Given the description of an element on the screen output the (x, y) to click on. 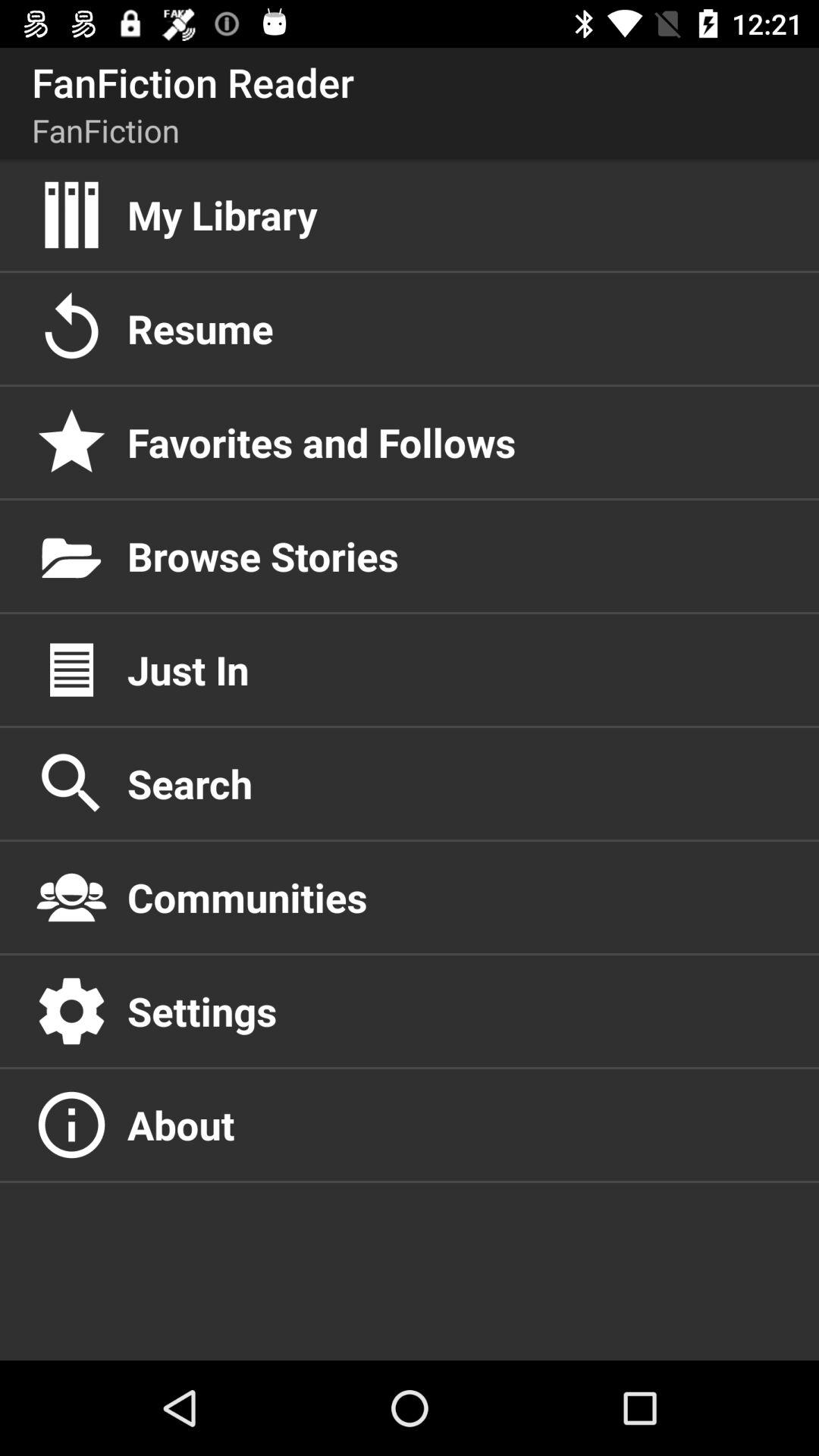
flip to the just in (457, 669)
